Given the description of an element on the screen output the (x, y) to click on. 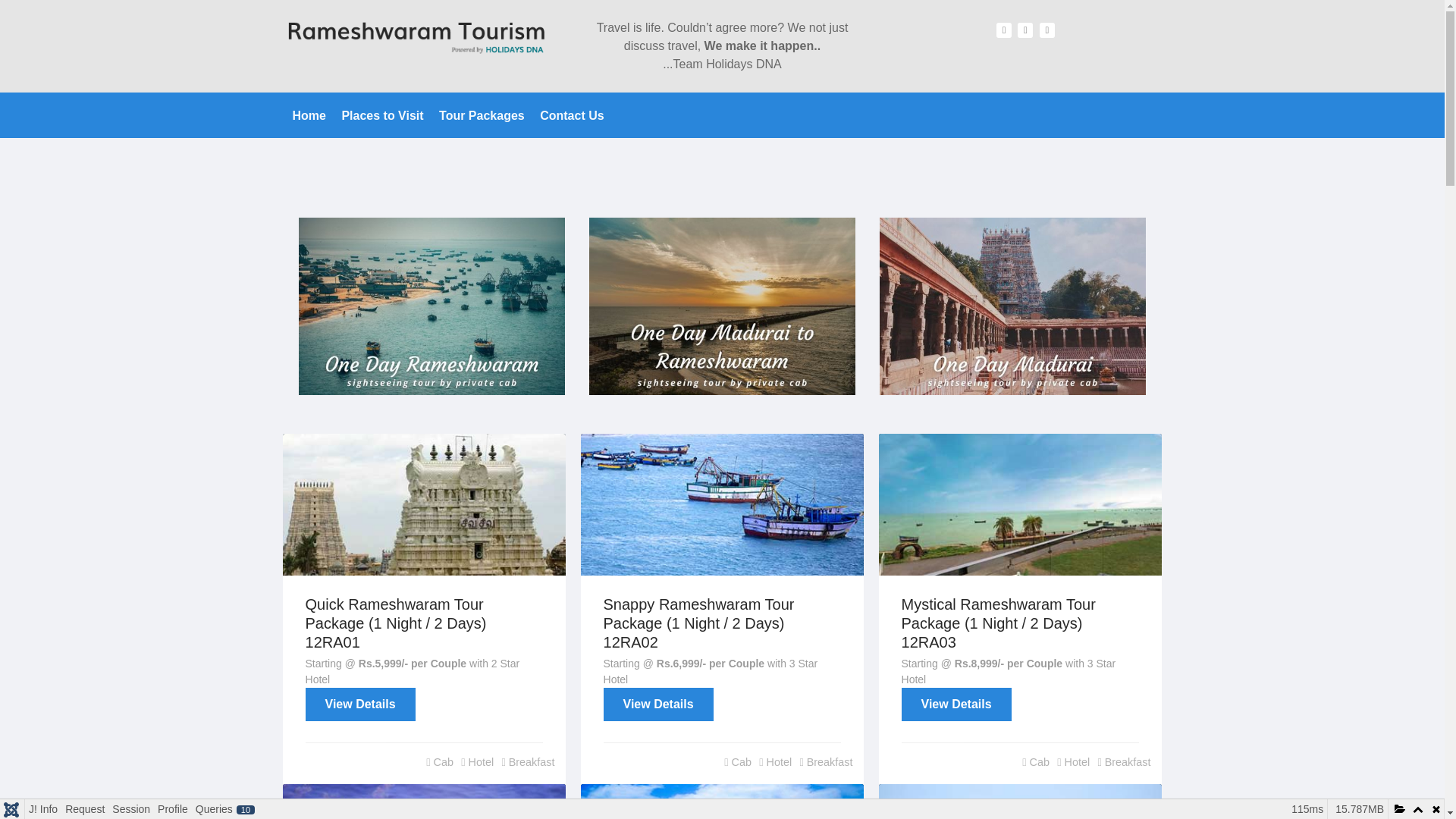
Rameshwaram Tourism (420, 36)
View Details (359, 704)
Places to Visit (381, 115)
View Details (658, 704)
View Details (359, 704)
Contact Us (572, 115)
View Details (658, 704)
Home (309, 115)
Places to Visit in Rameshwaram (381, 115)
View Details (956, 704)
